Given the description of an element on the screen output the (x, y) to click on. 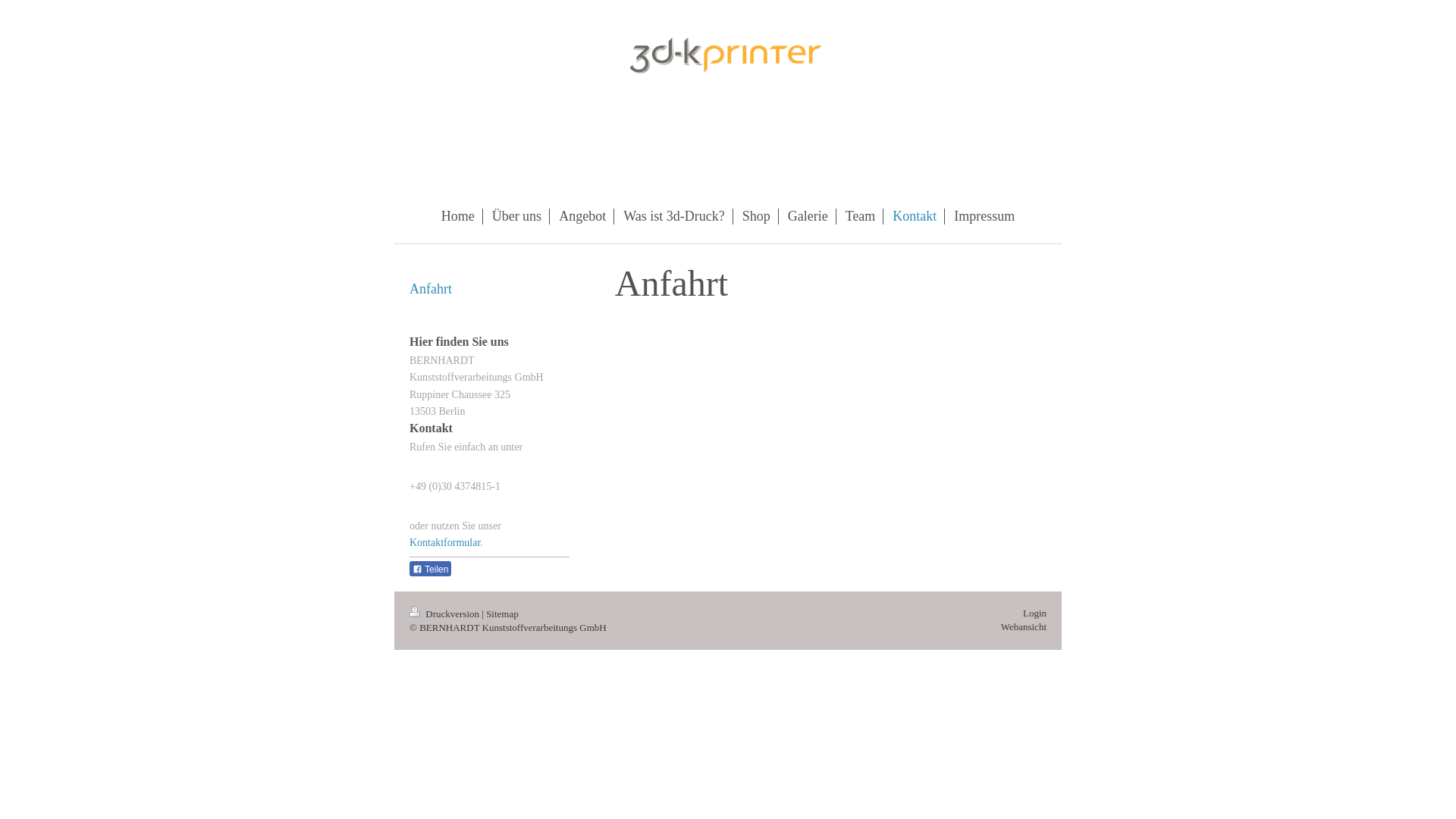
Impressum Element type: text (984, 216)
Kontakt Element type: text (914, 216)
Anfahrt Element type: text (489, 288)
Angebot Element type: text (582, 216)
Druckversion Element type: text (445, 613)
Team Element type: text (860, 216)
Webansicht Element type: text (1023, 626)
Kontaktformular Element type: text (444, 542)
Galerie Element type: text (808, 216)
Shop Element type: text (756, 216)
Home Element type: text (458, 216)
Sitemap Element type: text (502, 613)
Teilen Element type: text (430, 568)
Was ist 3d-Druck? Element type: text (674, 216)
Login Element type: text (1034, 612)
